Given the description of an element on the screen output the (x, y) to click on. 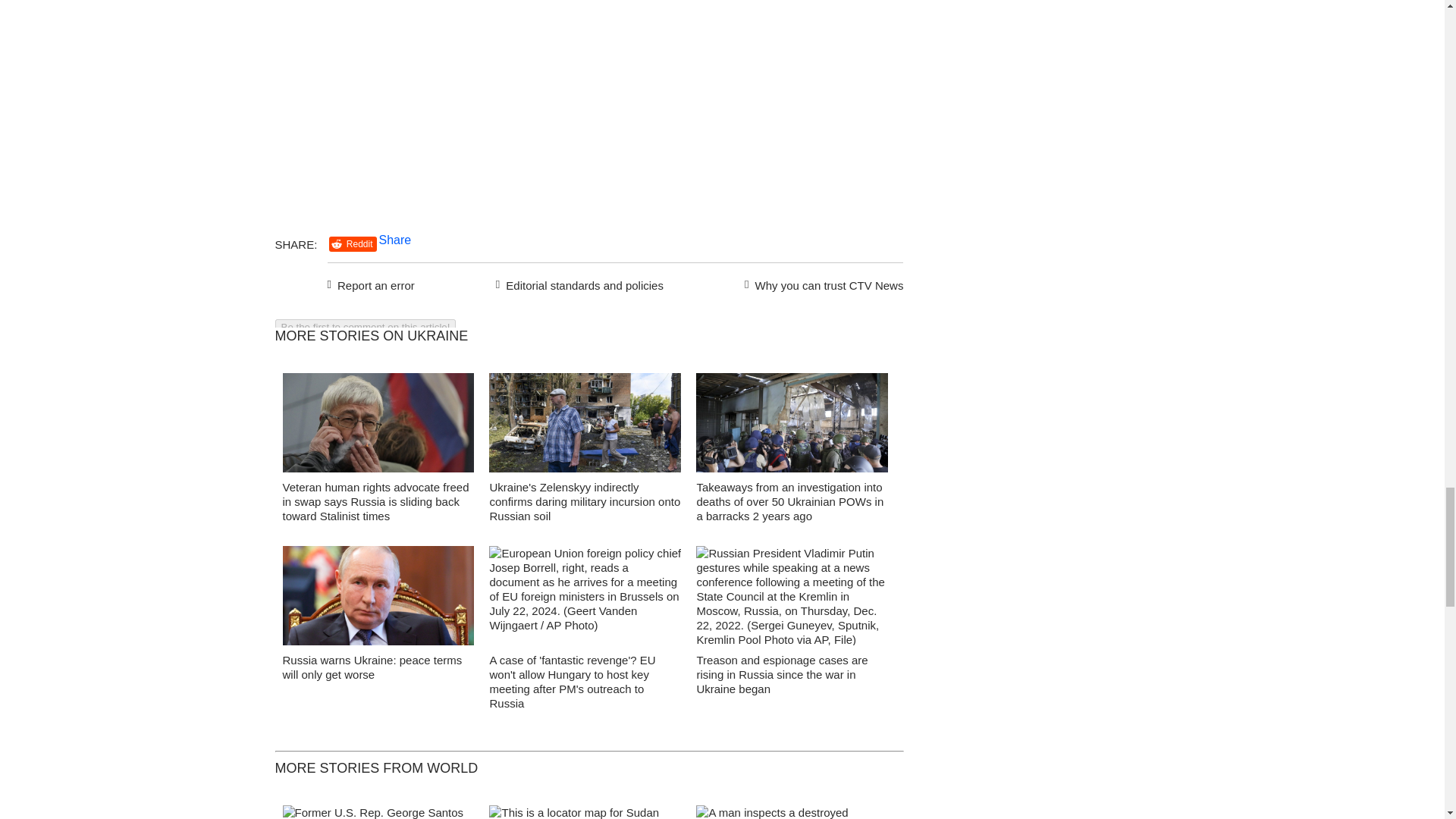
Share (395, 239)
Be the first to comment on this article! (365, 326)
Reddit (353, 244)
Editorial standards and policies (576, 282)
Russia warns Ukraine: peace terms will only get worse (371, 666)
Report an error (370, 282)
